Given the description of an element on the screen output the (x, y) to click on. 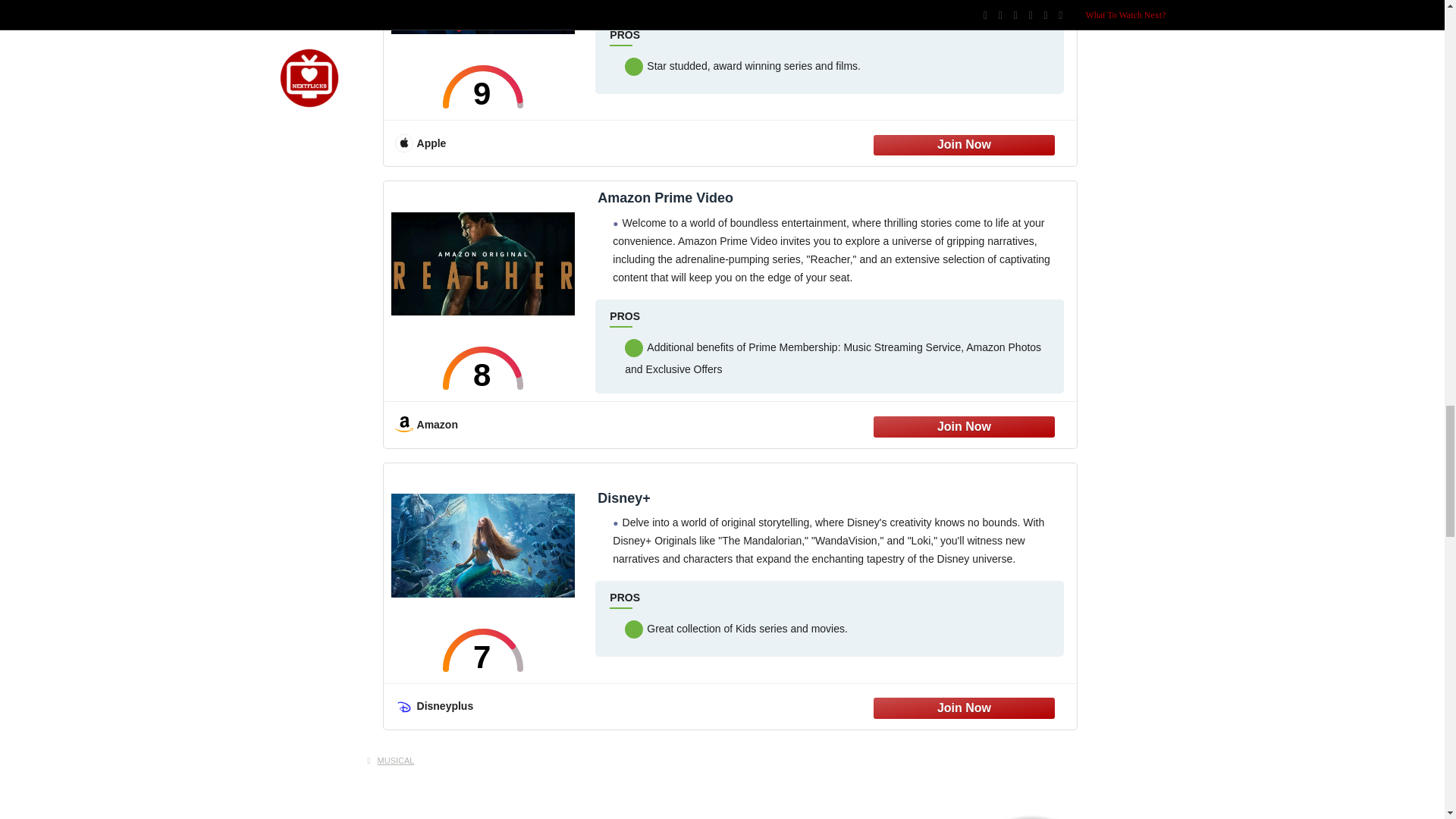
7 (483, 649)
9 (483, 86)
8 (483, 367)
